Given the description of an element on the screen output the (x, y) to click on. 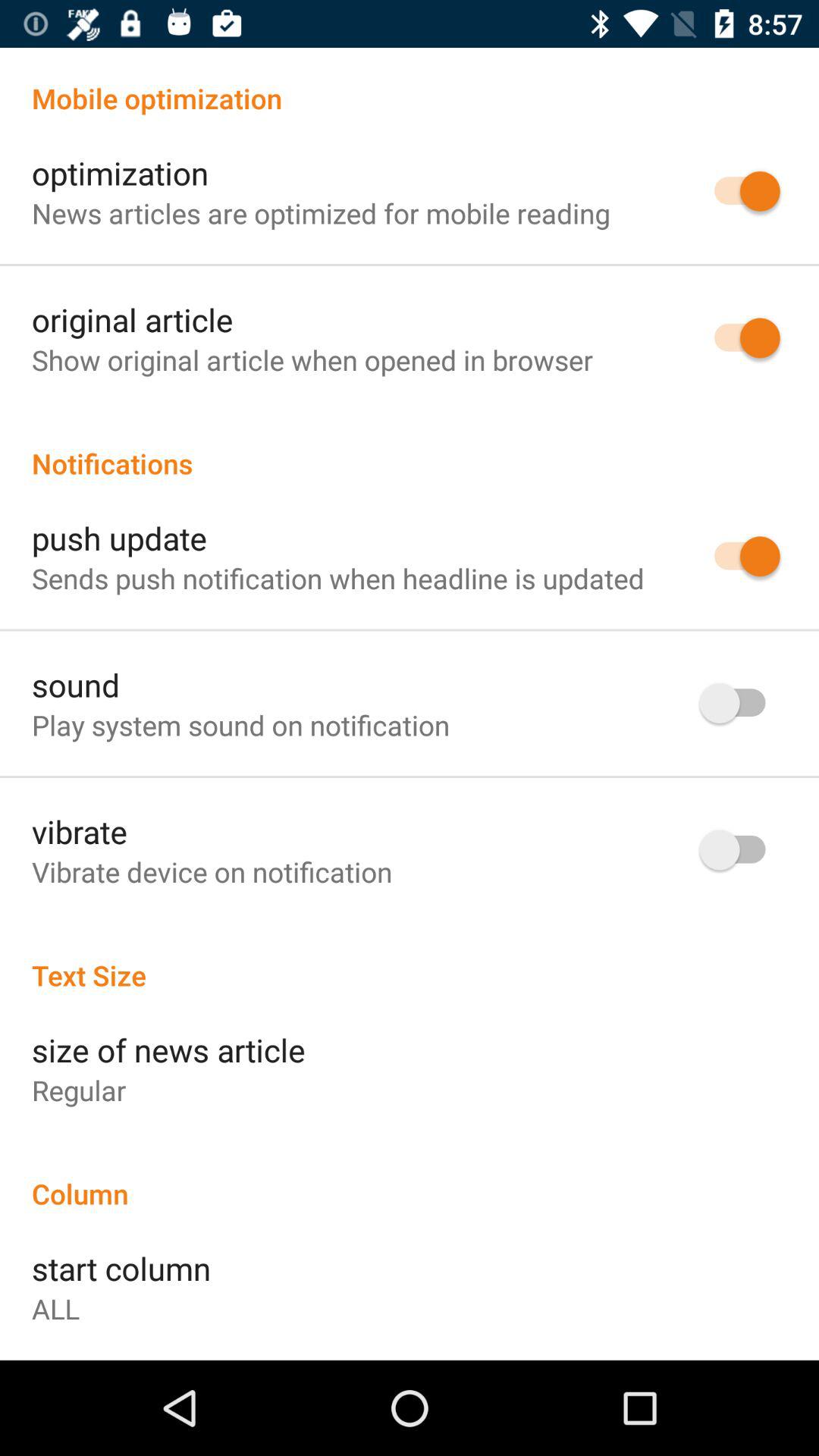
turn off the news articles are app (320, 213)
